Given the description of an element on the screen output the (x, y) to click on. 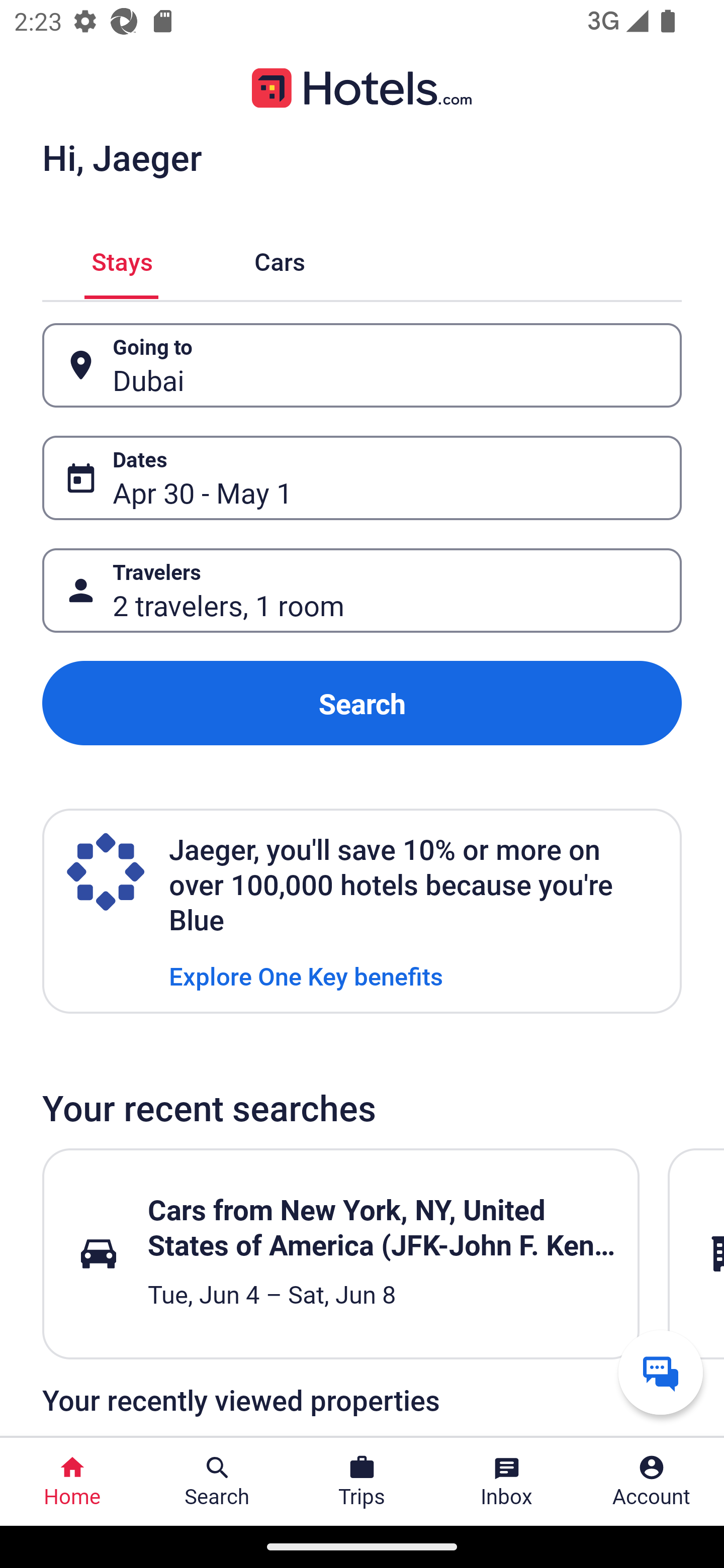
Hi, Jaeger (121, 156)
Cars (279, 259)
Going to Button Dubai (361, 365)
Dates Button Apr 30 - May 1 (361, 477)
Travelers Button 2 travelers, 1 room (361, 590)
Search (361, 702)
Get help from a virtual agent (660, 1371)
Search Search Button (216, 1481)
Trips Trips Button (361, 1481)
Inbox Inbox Button (506, 1481)
Account Profile. Button (651, 1481)
